Given the description of an element on the screen output the (x, y) to click on. 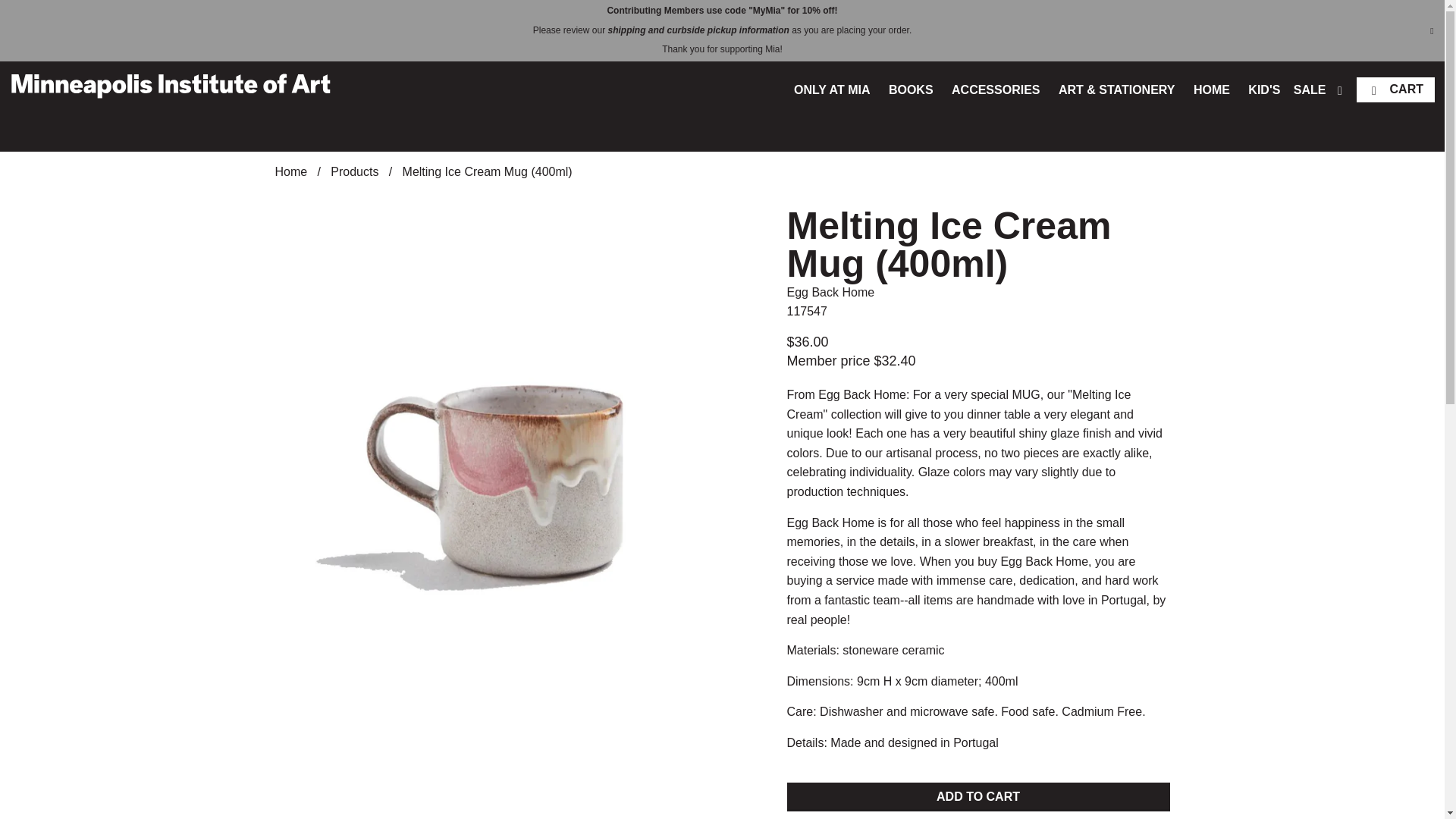
The Store at Mia - Minneapolis Institute of Art (170, 85)
The Store at Mia - Minneapolis Institute of Art (291, 171)
Egg Back Home (831, 291)
Products (354, 171)
Search (1340, 92)
